Given the description of an element on the screen output the (x, y) to click on. 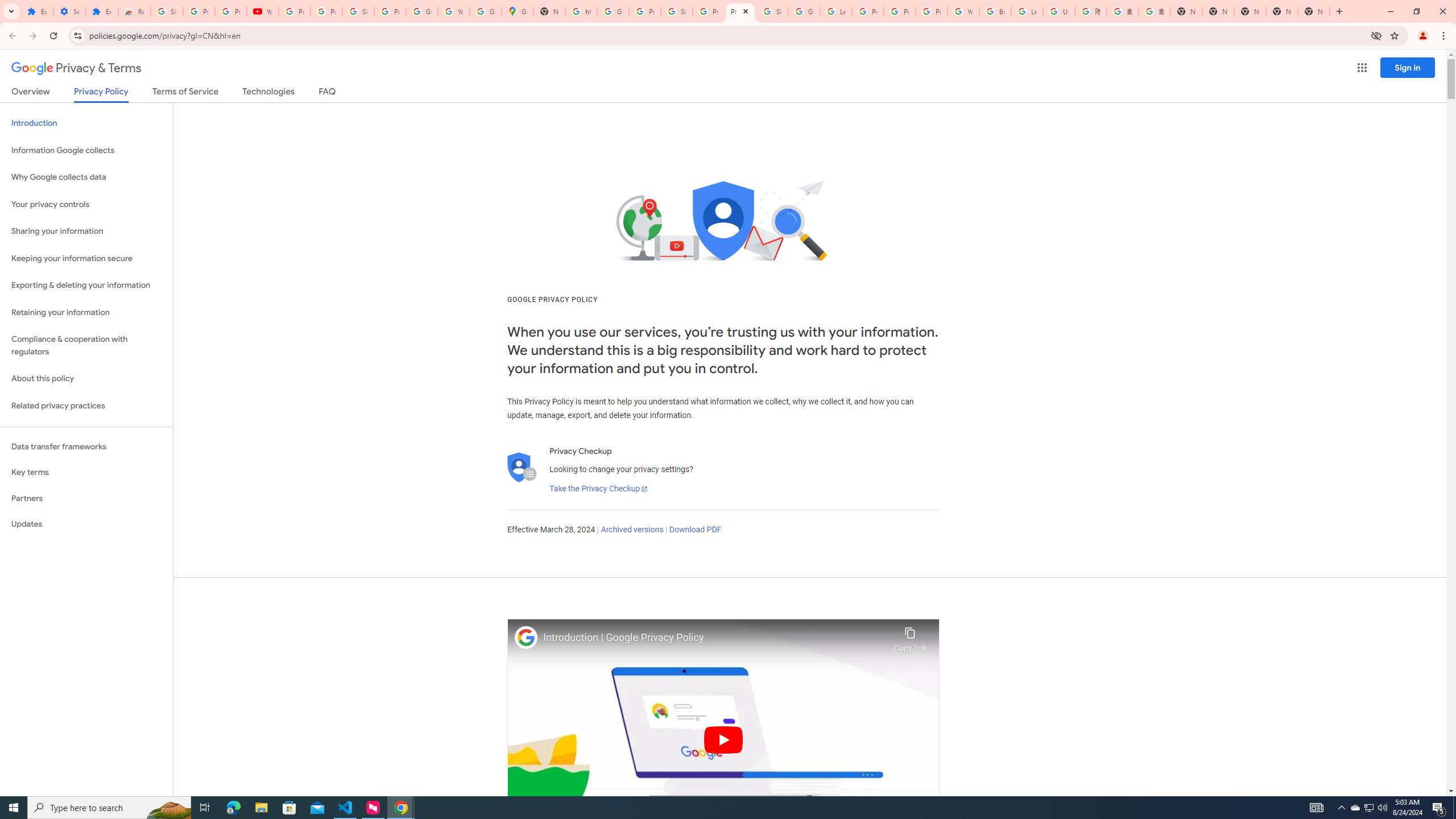
https://scholar.google.com/ (581, 11)
New Tab (1313, 11)
